Given the description of an element on the screen output the (x, y) to click on. 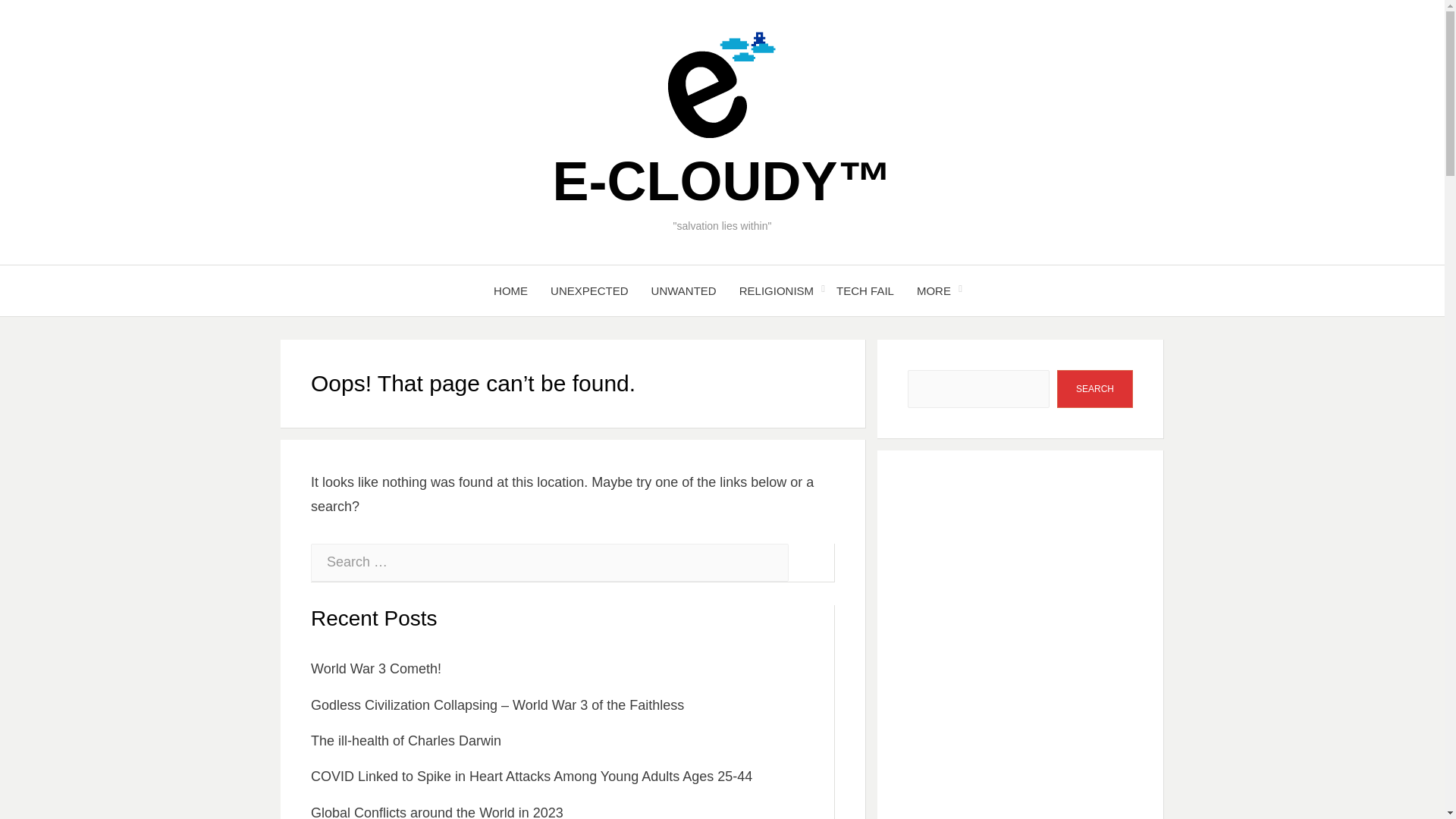
UNWANTED (684, 290)
Search for: (550, 562)
TECH FAIL (865, 290)
HOME (509, 290)
MORE (933, 290)
RELIGIONISM (776, 290)
UNEXPECTED (589, 290)
The ill-health of Charles Darwin (405, 740)
World War 3 Cometh! (376, 668)
